Given the description of an element on the screen output the (x, y) to click on. 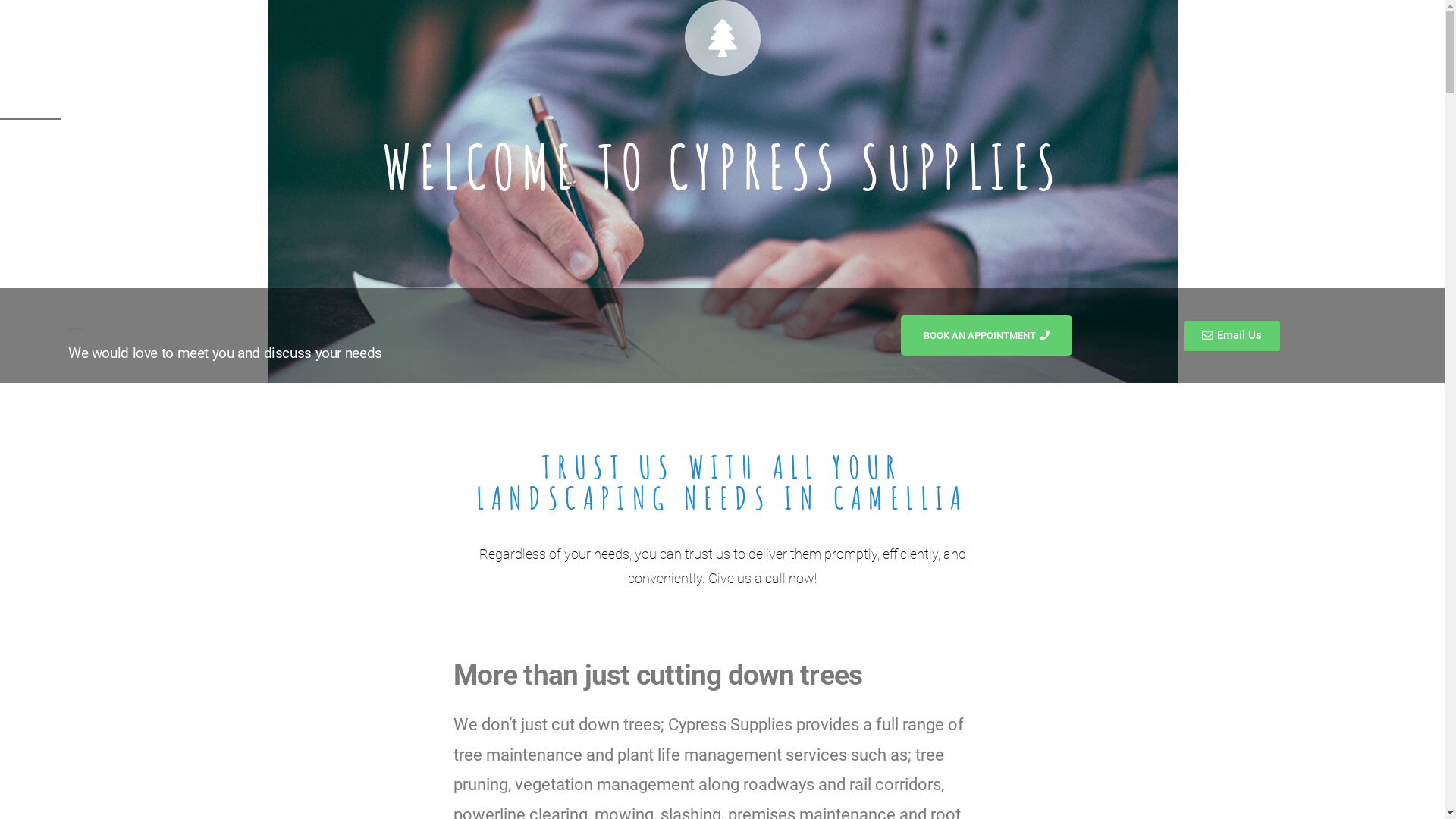
BOOK AN APPOINTMENT Element type: text (986, 335)
Email Us Element type: text (1231, 335)
